Given the description of an element on the screen output the (x, y) to click on. 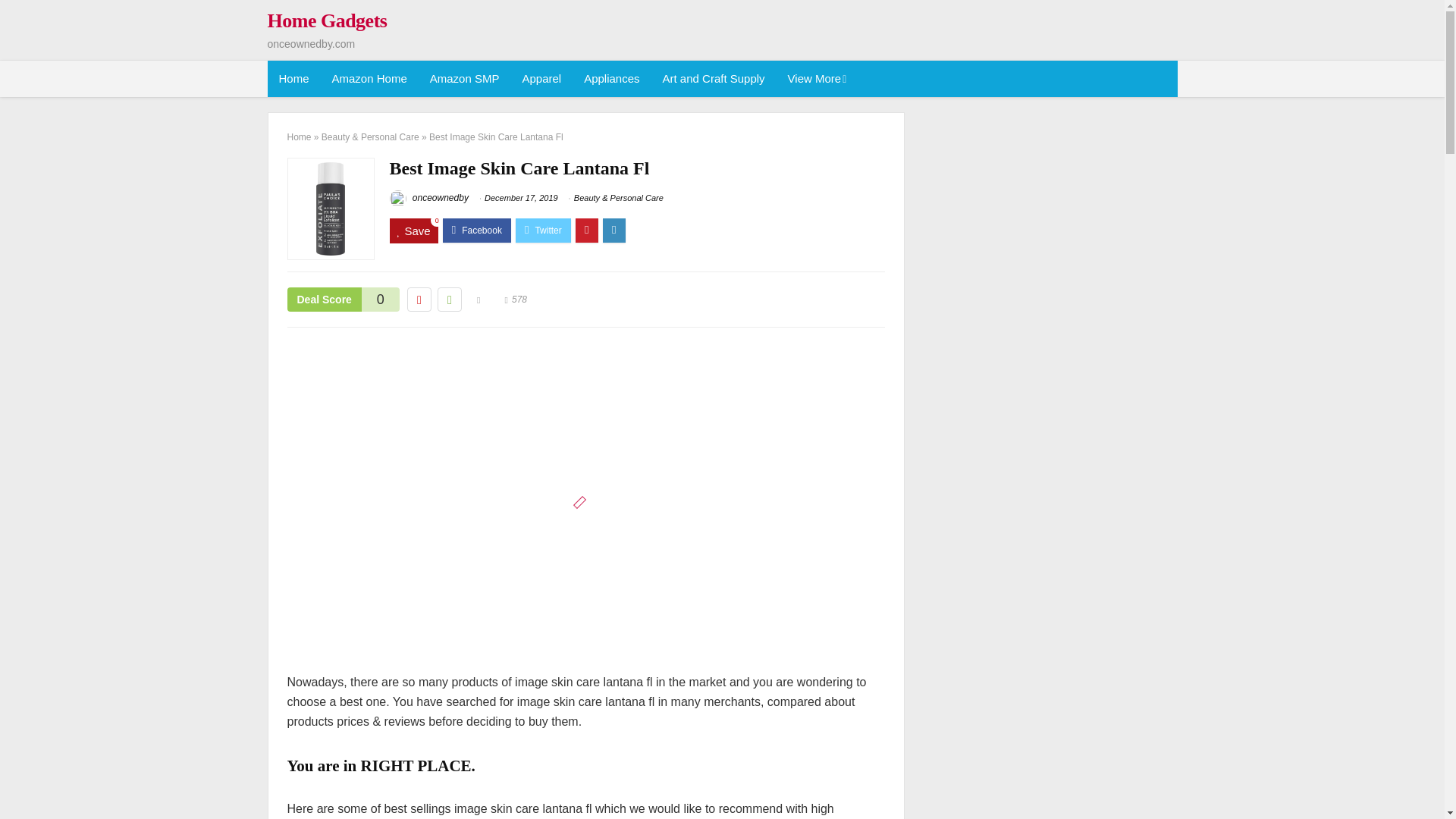
Amazon Home (369, 78)
Home (293, 78)
Apparel (541, 78)
Art and Craft Supply (713, 78)
Amazon SMP (465, 78)
Appliances (611, 78)
View More (816, 78)
Vote down (418, 299)
